Given the description of an element on the screen output the (x, y) to click on. 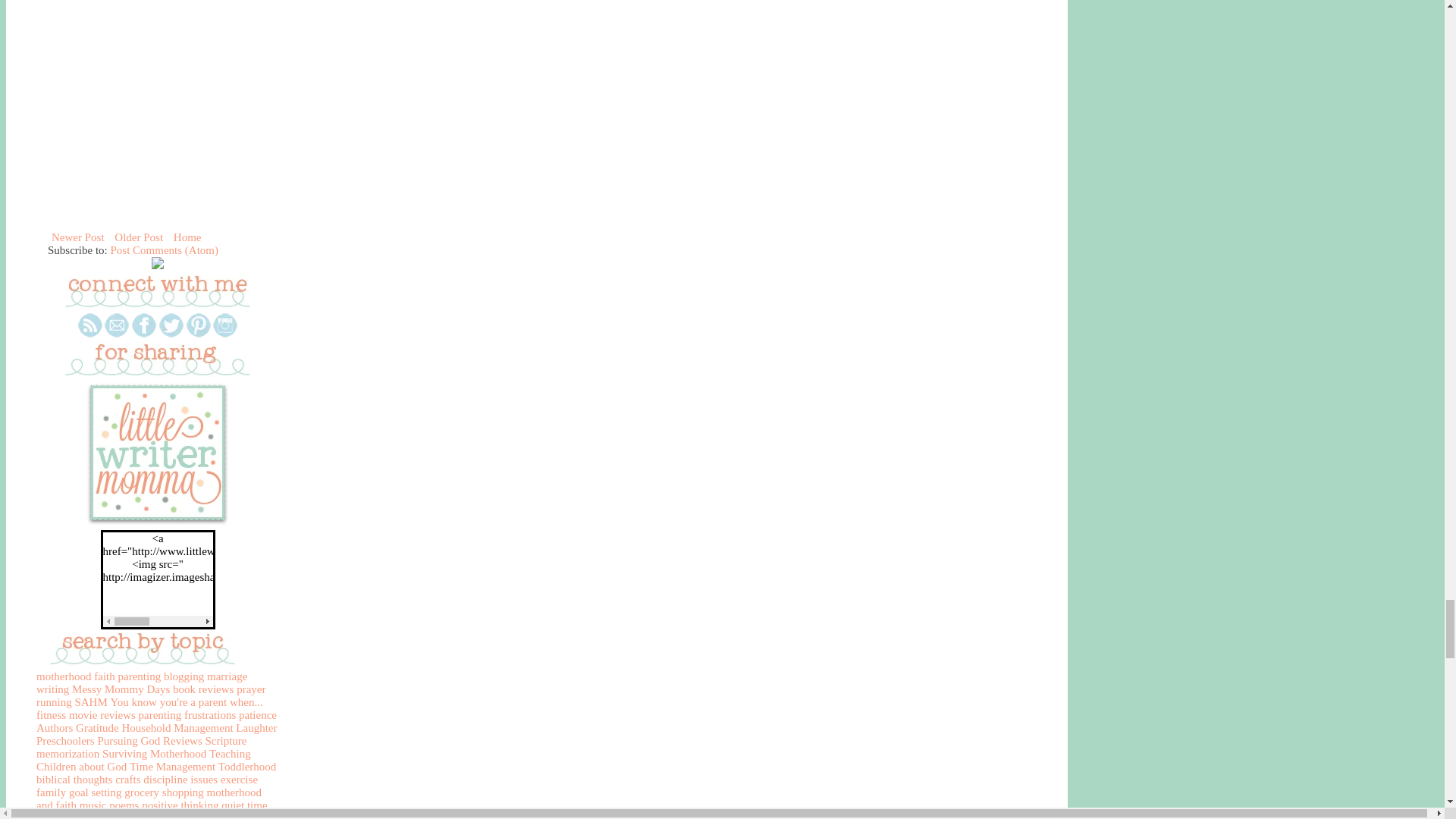
Newer Post (77, 237)
Older Post (138, 237)
